Given the description of an element on the screen output the (x, y) to click on. 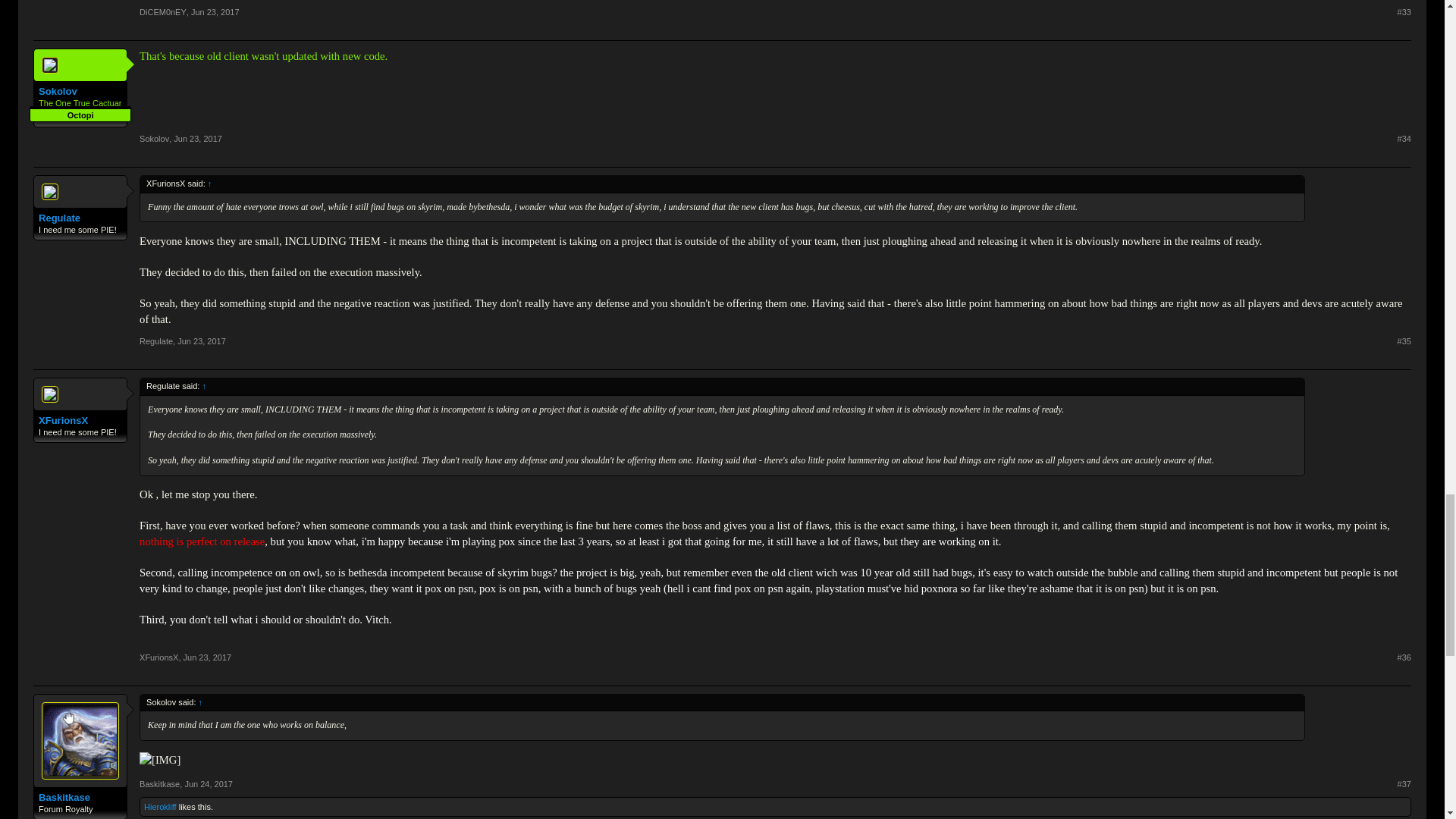
Permalink (197, 138)
Permalink (215, 11)
Permalink (1403, 340)
Permalink (1403, 138)
Permalink (1403, 11)
Permalink (201, 340)
